Given the description of an element on the screen output the (x, y) to click on. 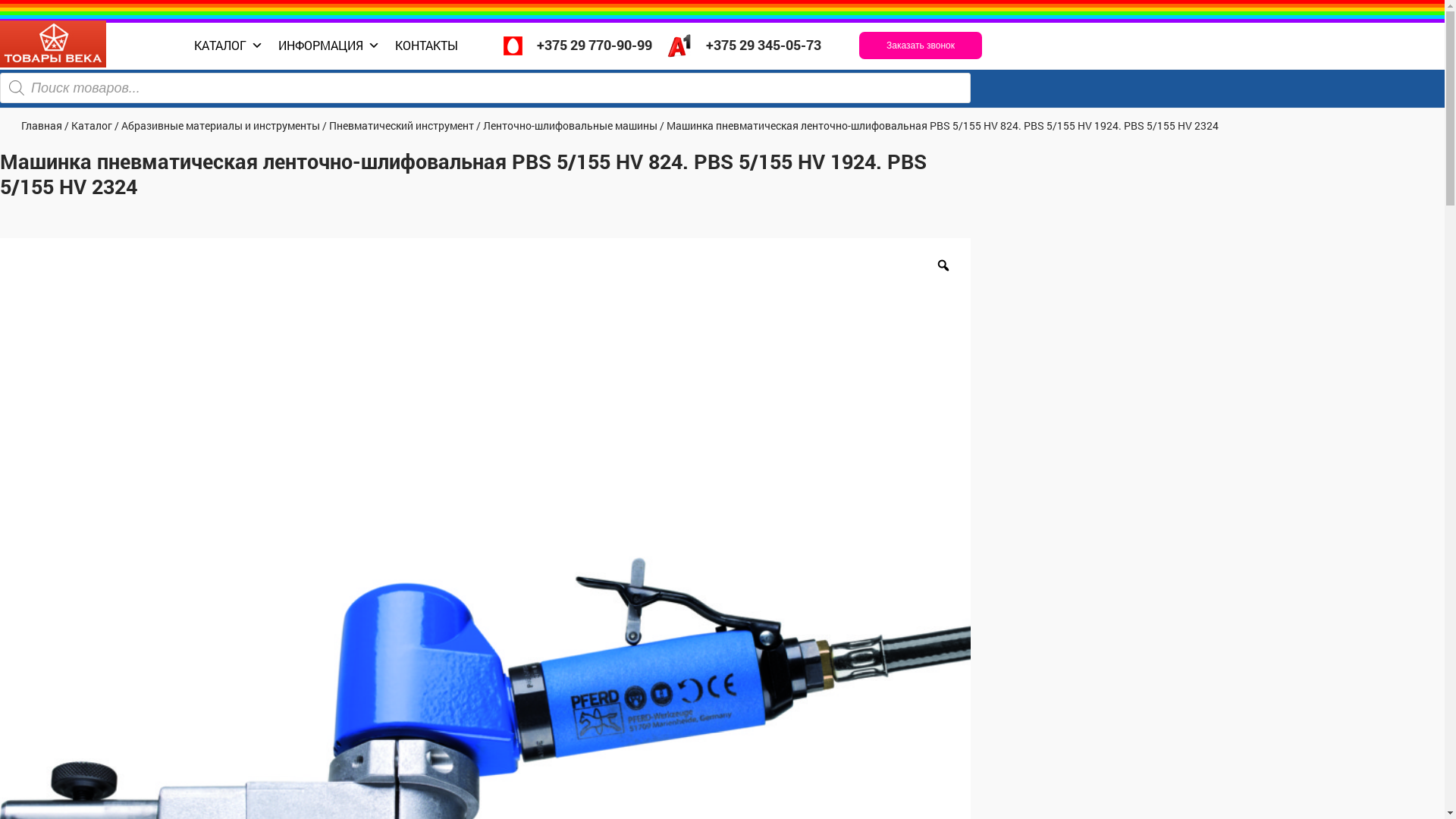
+375 29 770-90-99 Element type: text (577, 45)
Skip to content Element type: text (0, 119)
+375 29 345-05-73 Element type: text (744, 45)
